Given the description of an element on the screen output the (x, y) to click on. 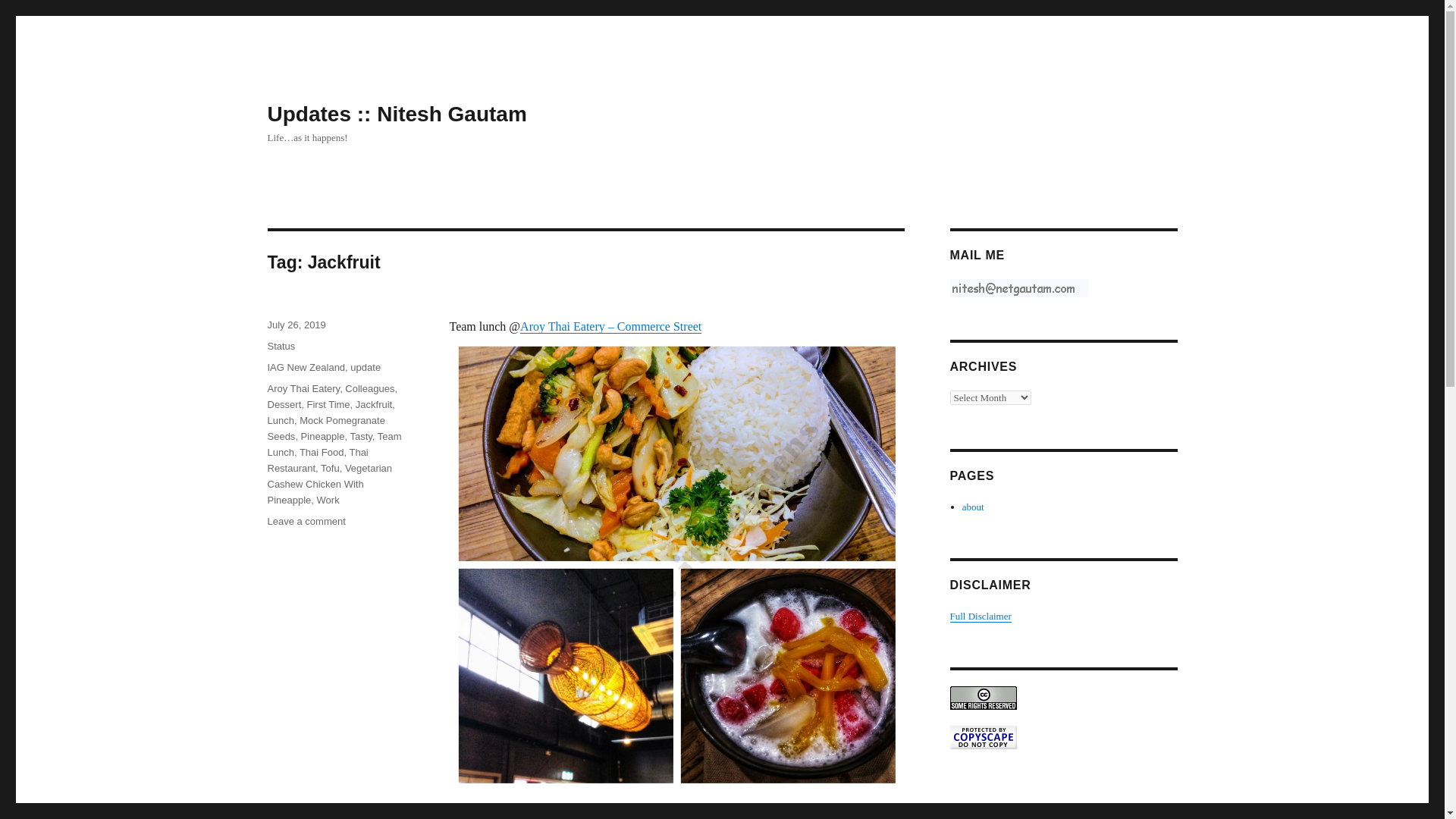
Vegetarian Cashew Chicken With Pineapple (328, 484)
Tofu (329, 468)
Mock Pomegranate Seeds (325, 428)
July 26, 2019 (295, 324)
Work (328, 500)
update (365, 367)
IAG New Zealand (305, 367)
Status (280, 346)
First Time (328, 404)
Aroy Thai Eatery (302, 388)
